Given the description of an element on the screen output the (x, y) to click on. 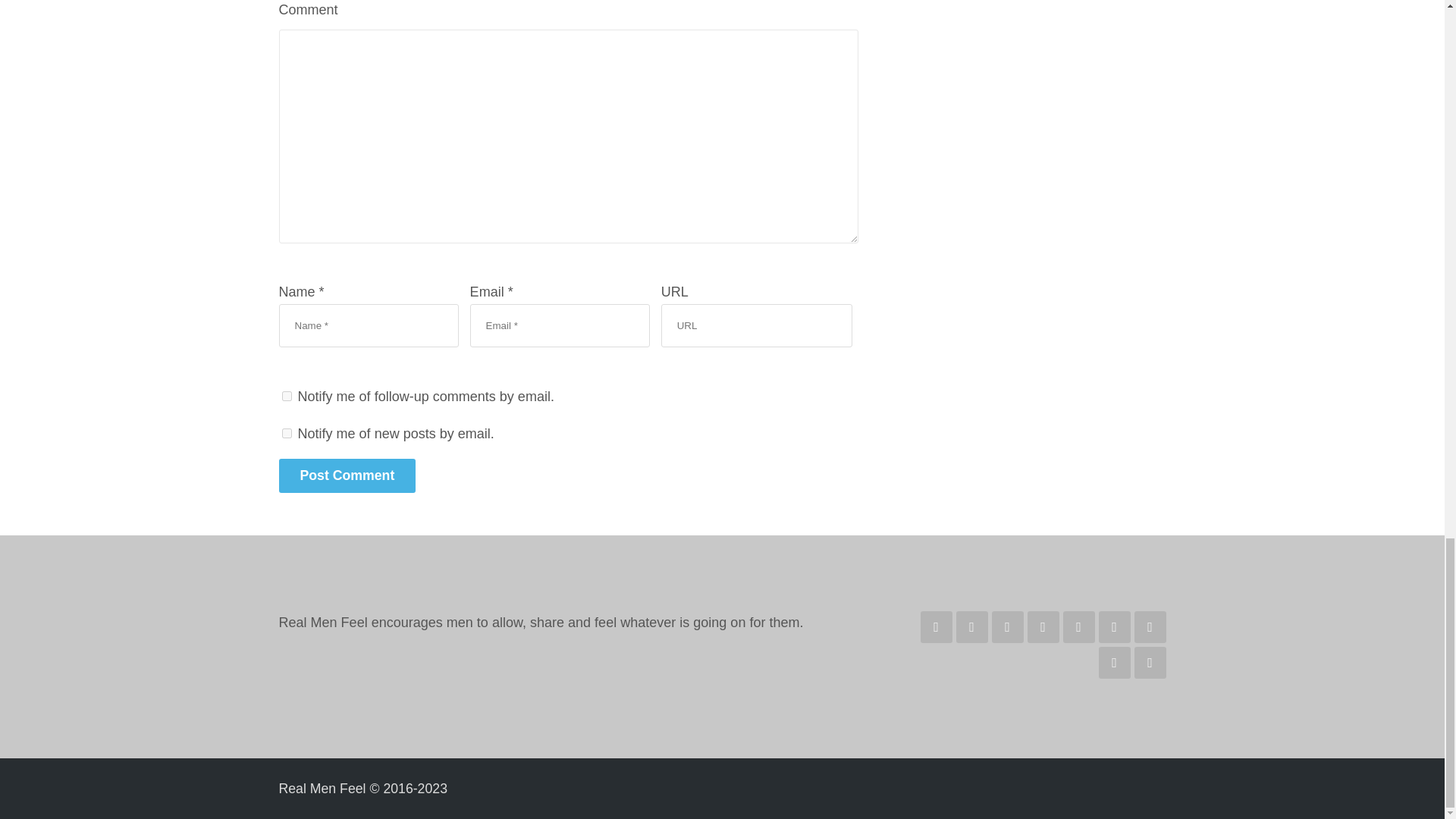
subscribe (287, 433)
subscribe (287, 396)
Post Comment (347, 475)
Post Comment (347, 475)
